Given the description of an element on the screen output the (x, y) to click on. 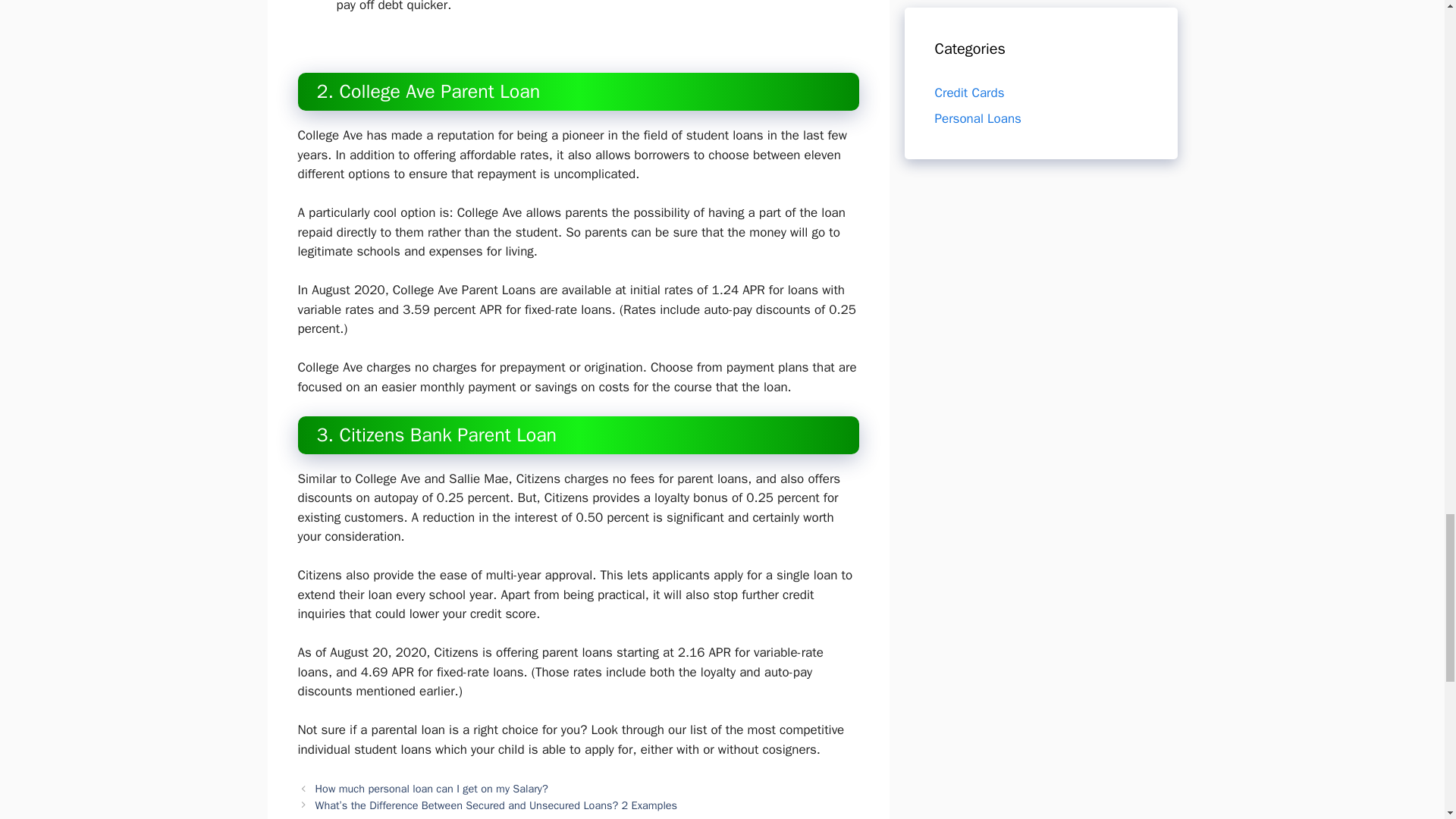
How much personal loan can I get on my Salary? (431, 788)
